Given the description of an element on the screen output the (x, y) to click on. 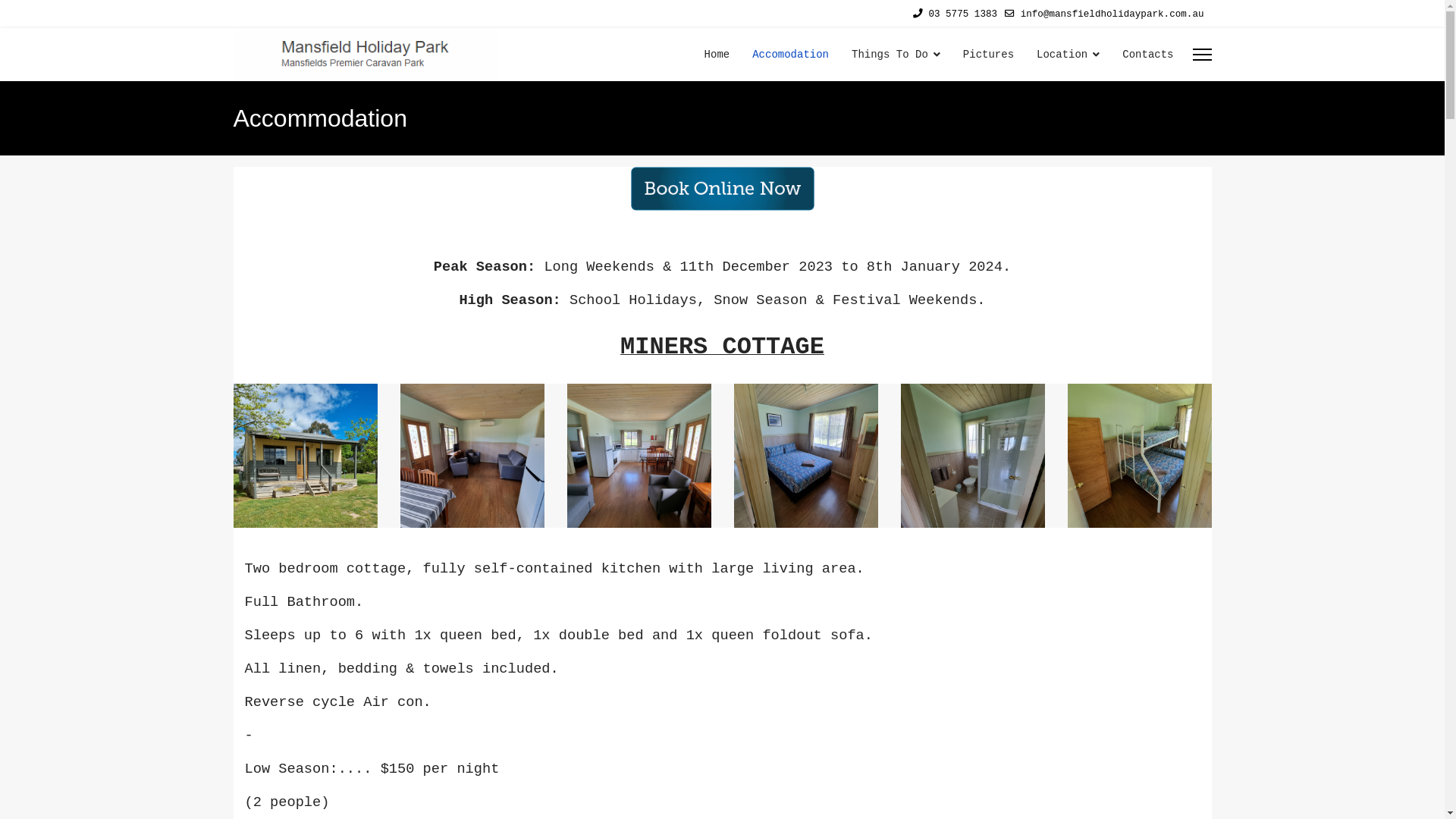
Things To Do Element type: text (895, 54)
Home Element type: text (717, 54)
Menu Element type: hover (1201, 54)
Location Element type: text (1067, 54)
info@mansfieldholidaypark.com.au Element type: text (1112, 14)
Accomodation Element type: text (790, 54)
Contacts Element type: text (1141, 54)
Pictures Element type: text (988, 54)
03 5775 1383 Element type: text (962, 14)
